Given the description of an element on the screen output the (x, y) to click on. 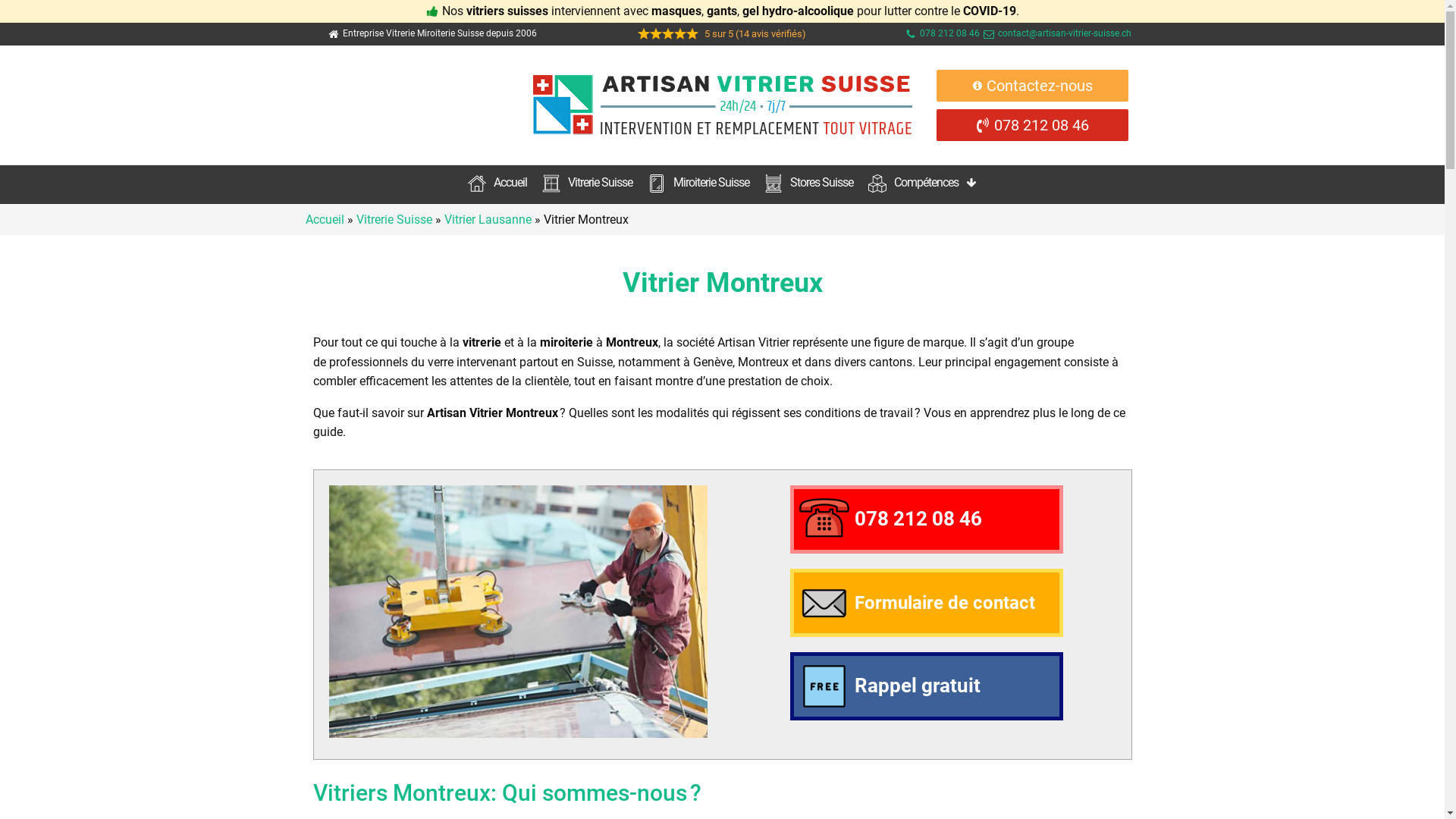
078 212 08 46 Element type: text (1032, 125)
078 212 08 46 Element type: text (926, 519)
Vitrerie Suisse Element type: text (394, 219)
Vitrerie Suisse Element type: text (587, 184)
Stores Suisse Element type: text (808, 184)
Vitrier Lausanne Element type: text (487, 219)
Formulaire de contact Element type: text (926, 602)
Miroiterie Suisse Element type: text (698, 184)
Accueil Element type: text (323, 219)
contact@artisan-vitrier-suisse.ch Element type: text (1064, 33)
Accueil Element type: text (497, 184)
Rappel gratuit Element type: text (926, 686)
078 212 08 46 Element type: text (951, 33)
Contactez-nous Element type: text (1032, 85)
